Given the description of an element on the screen output the (x, y) to click on. 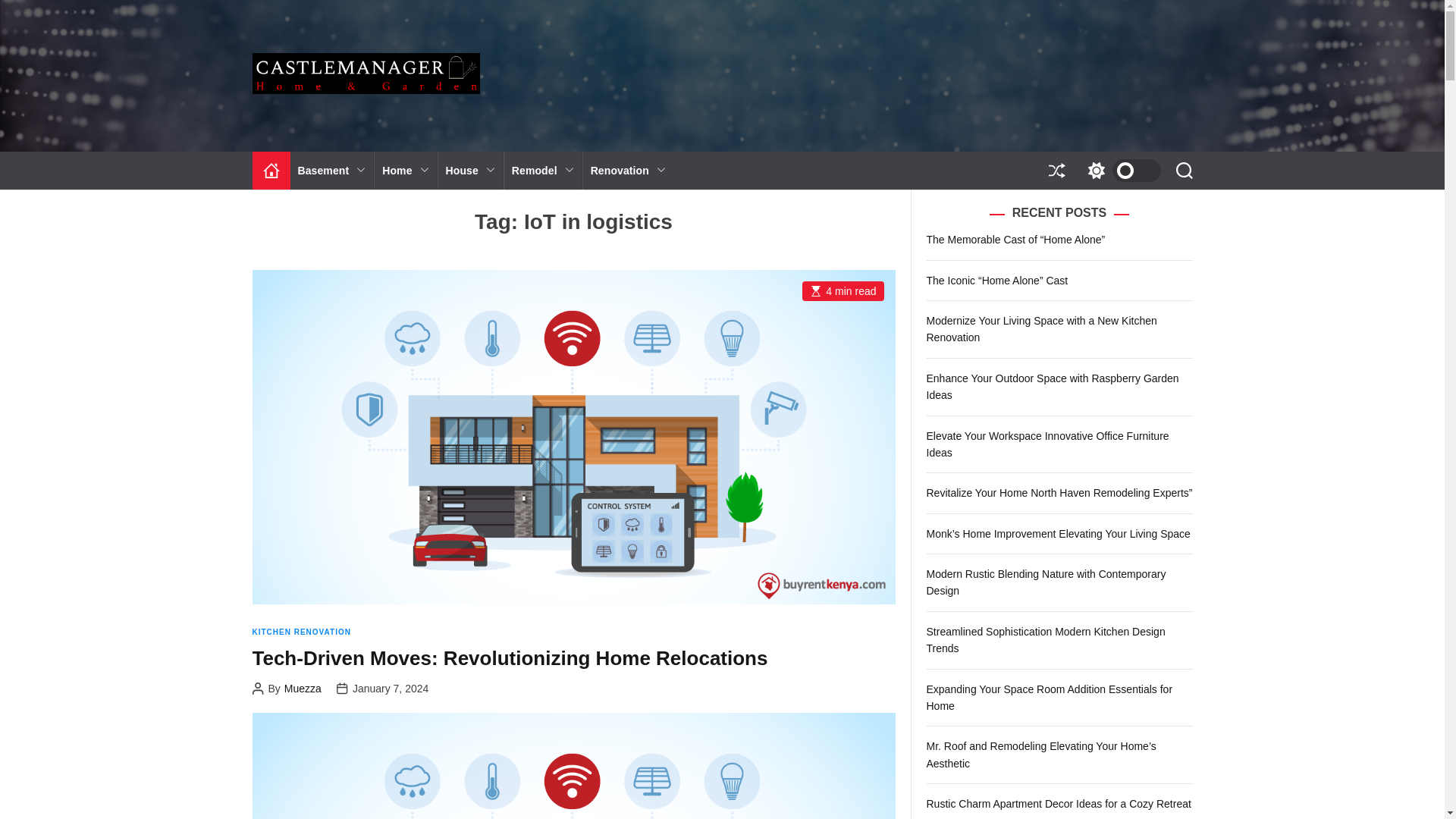
Renovation (627, 170)
Home (405, 170)
Basement (331, 170)
Switch color mode (1120, 170)
Remodel (542, 170)
House (470, 170)
